Given the description of an element on the screen output the (x, y) to click on. 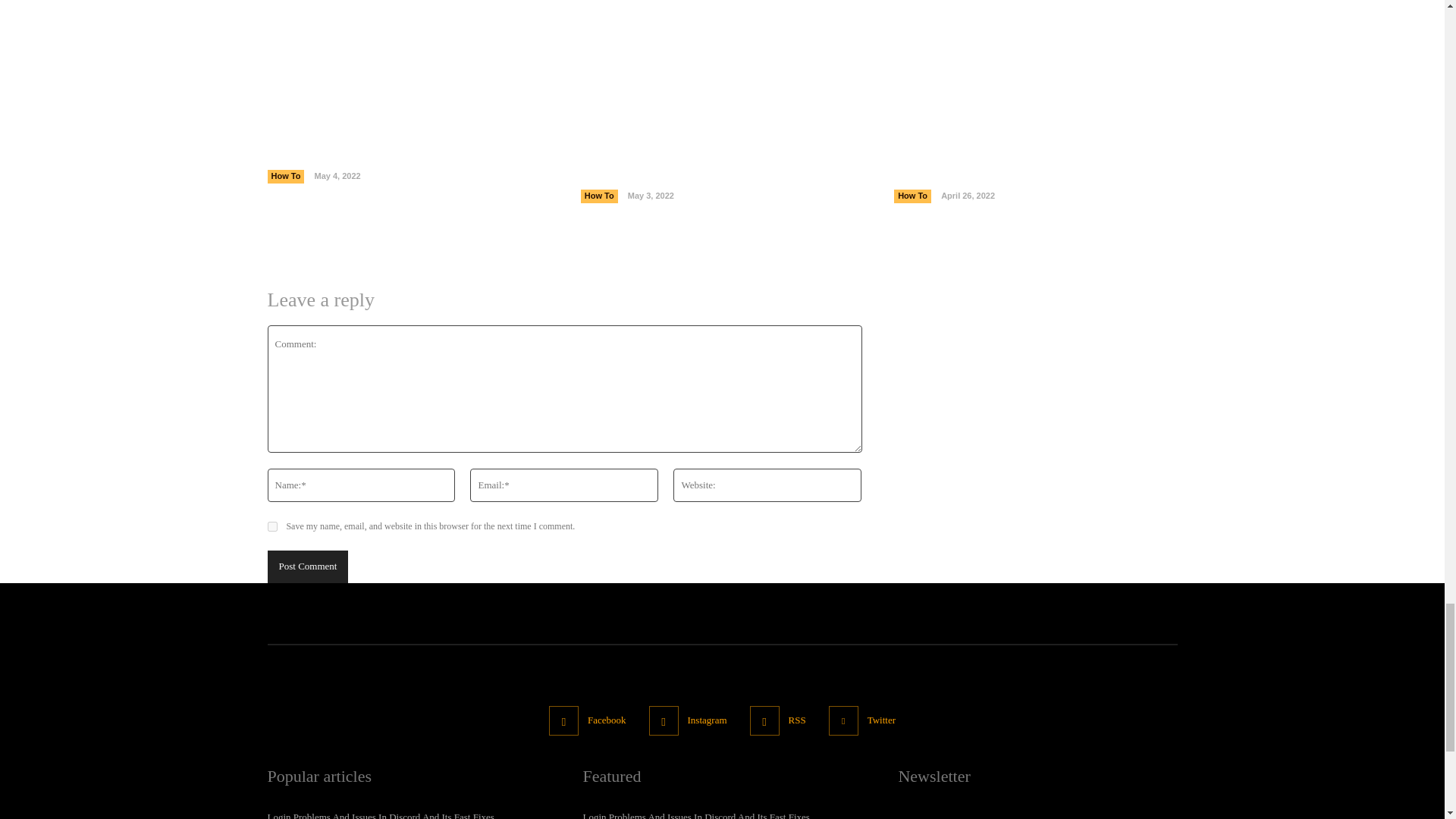
Creating New Account To Start Yahoo Mail (408, 43)
Logging Into Email Account At Insightbb.Com (676, 170)
How To Make Yahoo My As Homepage Across Different Browsers? (1034, 43)
Post Comment (306, 566)
Creating New Account To Start Yahoo Mail (399, 160)
Logging Into Email Account At Insightbb.Com (721, 43)
yes (271, 526)
